Given the description of an element on the screen output the (x, y) to click on. 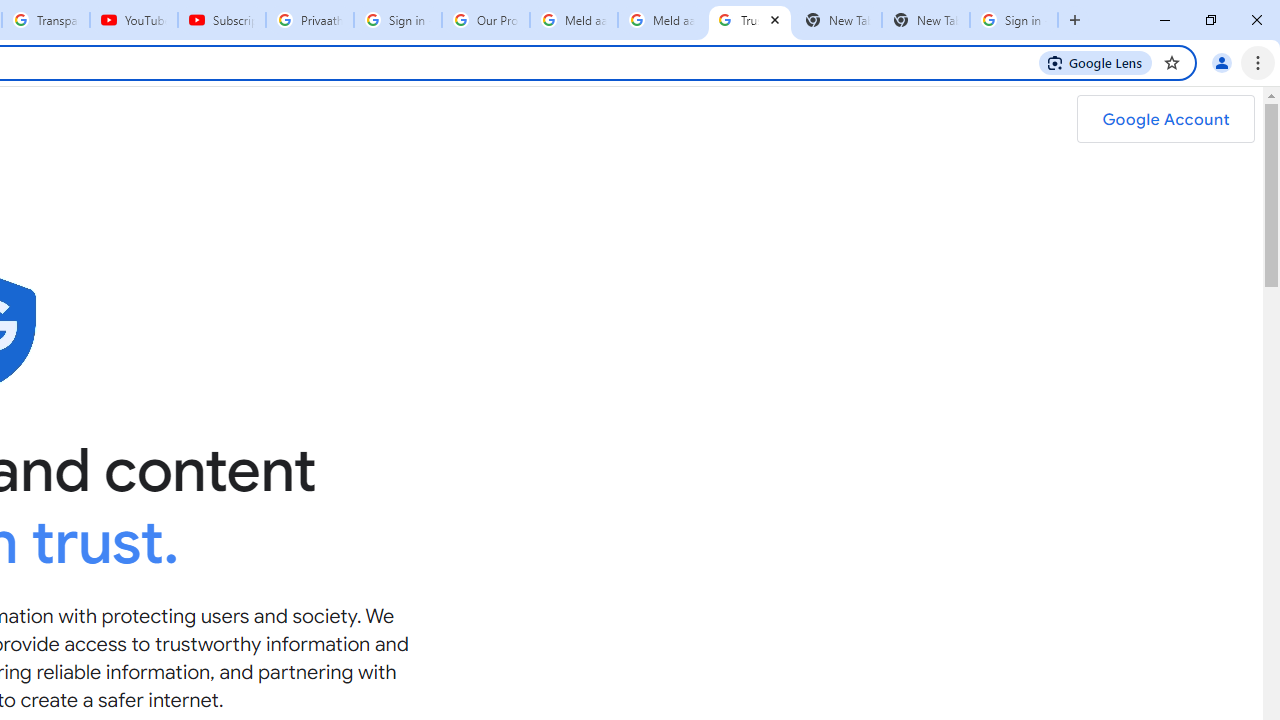
Trusted Information and Content - Google Safety Center (749, 20)
YouTube (133, 20)
New Tab (925, 20)
Search with Google Lens (1095, 62)
New Tab (1075, 20)
Minimize (1165, 20)
Close (774, 19)
Bookmark this tab (1171, 62)
Sign in - Google Accounts (397, 20)
You (1221, 62)
Subscriptions - YouTube (221, 20)
Chrome (1260, 62)
